Given the description of an element on the screen output the (x, y) to click on. 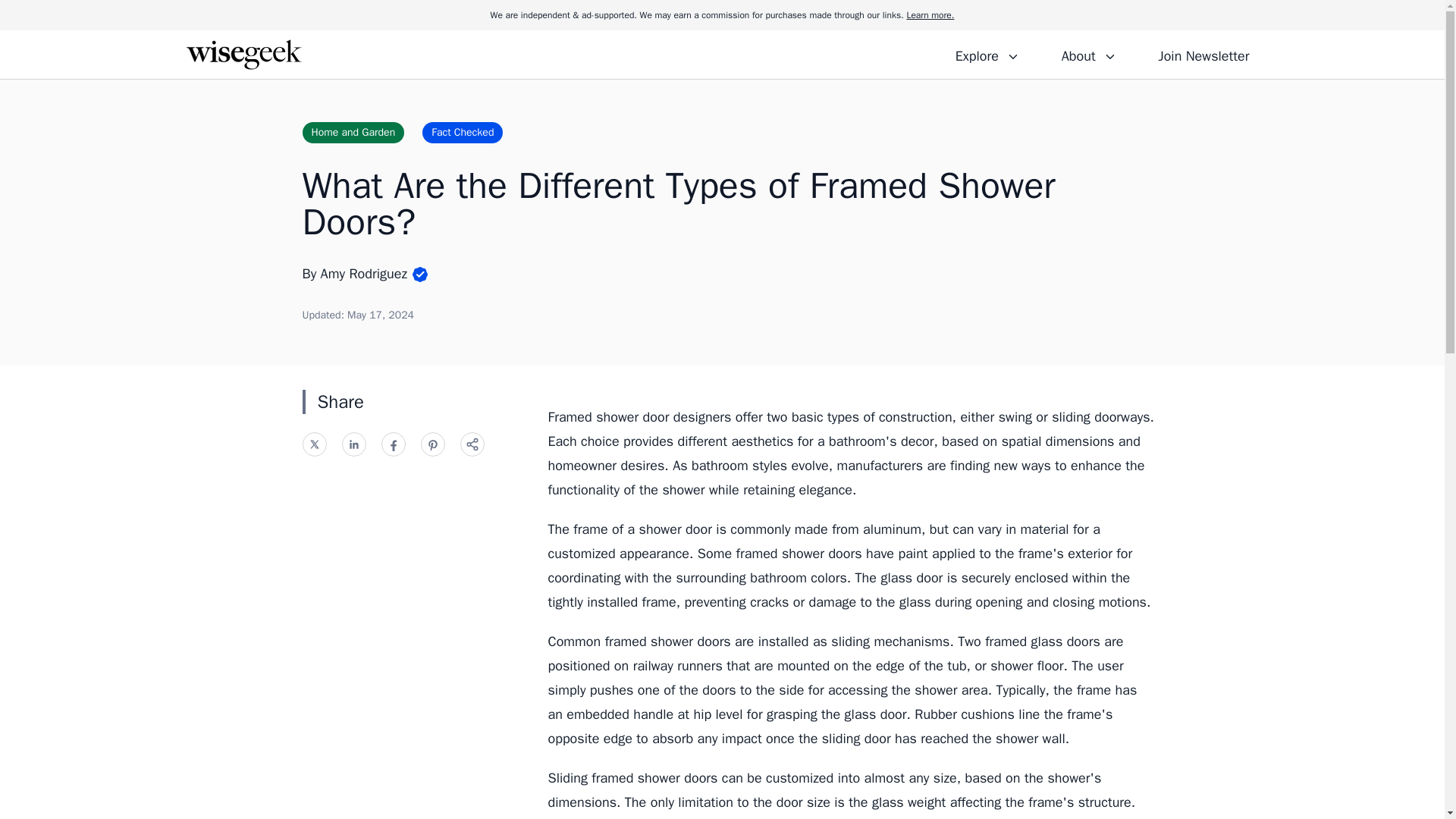
Learn more. (929, 15)
Home and Garden (352, 132)
Join Newsletter (1202, 54)
About (1088, 54)
Fact Checked (462, 132)
Explore (986, 54)
